Given the description of an element on the screen output the (x, y) to click on. 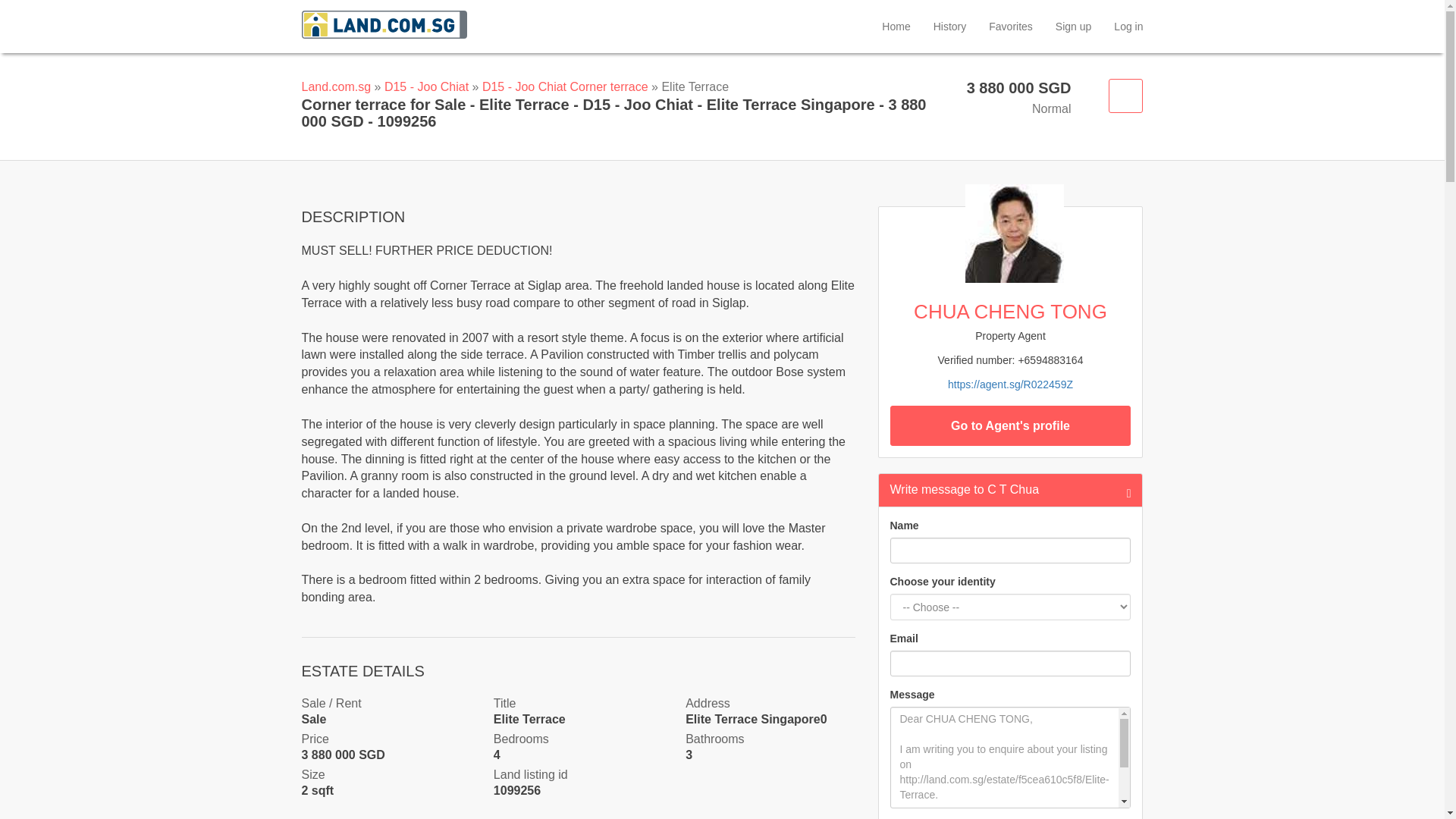
History (949, 26)
CHUA CHENG TONG (1010, 384)
Favorites (1009, 26)
Favorite (1125, 95)
Land.com.sg (336, 86)
Go to Agent's profile (1010, 425)
Log in (1128, 26)
Home (895, 26)
D15 - Joo Chiat (426, 86)
Sign up (1072, 26)
